Given the description of an element on the screen output the (x, y) to click on. 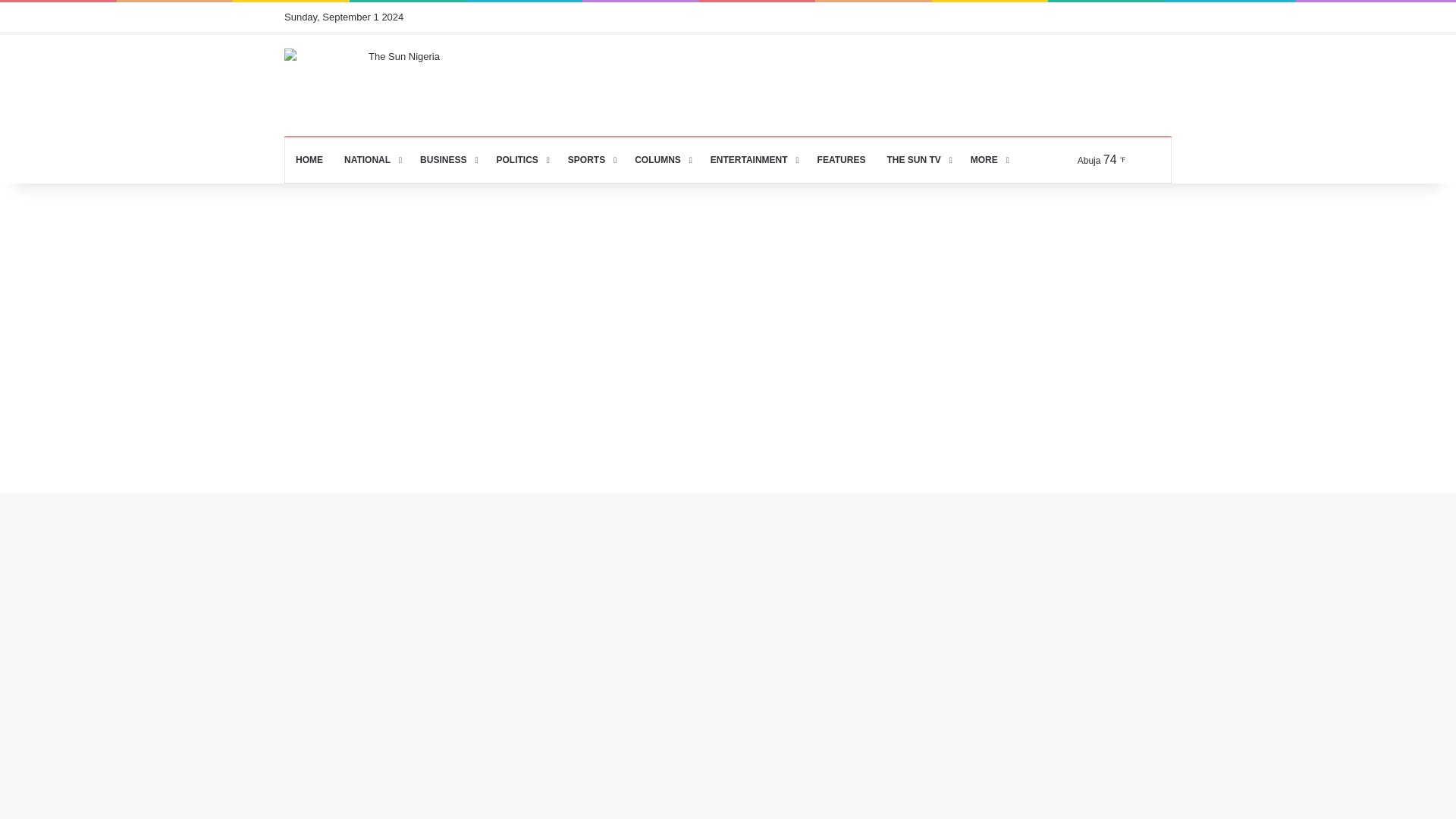
POLITICS (520, 159)
THE SUN TV (917, 159)
FEATURES (841, 159)
COLUMNS (662, 159)
BUSINESS (446, 159)
HOME (309, 159)
ENTERTAINMENT (753, 159)
NATIONAL (371, 159)
SPORTS (590, 159)
MORE (987, 159)
